Given the description of an element on the screen output the (x, y) to click on. 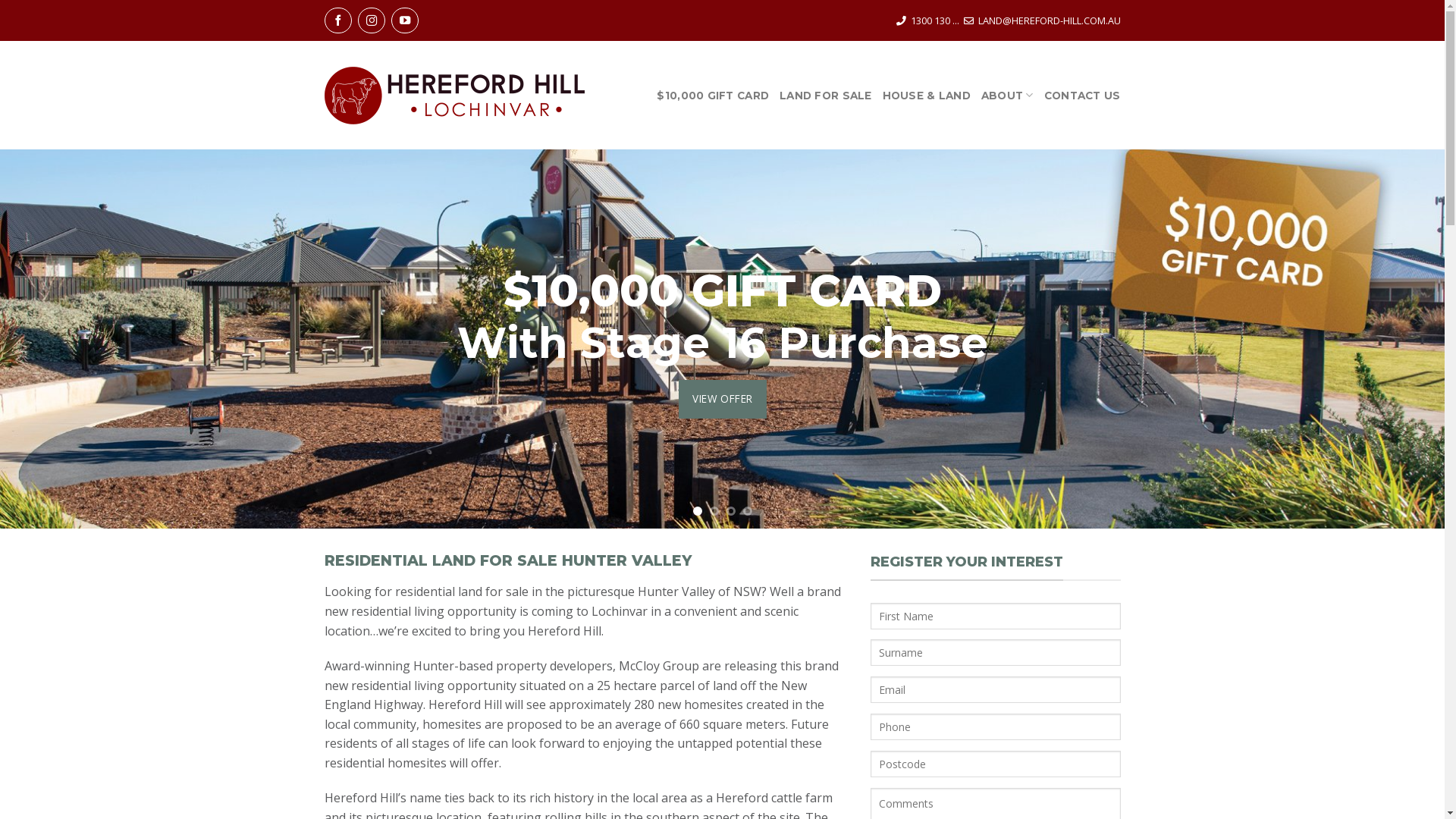
Hereford Hill - Lochinvar Element type: hover (454, 95)
VIEW OFFER Element type: text (722, 398)
HOUSE & LAND Element type: text (926, 95)
1300 130 ... Element type: text (934, 20)
Follow on YouTube Element type: hover (404, 20)
LAND@HEREFORD-HILL.COM.AU Element type: text (1049, 20)
$10,000 GIFT CARD Element type: text (712, 95)
Follow on Instagram Element type: hover (371, 20)
LAND FOR SALE Element type: text (825, 95)
ABOUT Element type: text (1007, 94)
Follow on Facebook Element type: hover (337, 20)
CONTACT US Element type: text (1082, 95)
